Given the description of an element on the screen output the (x, y) to click on. 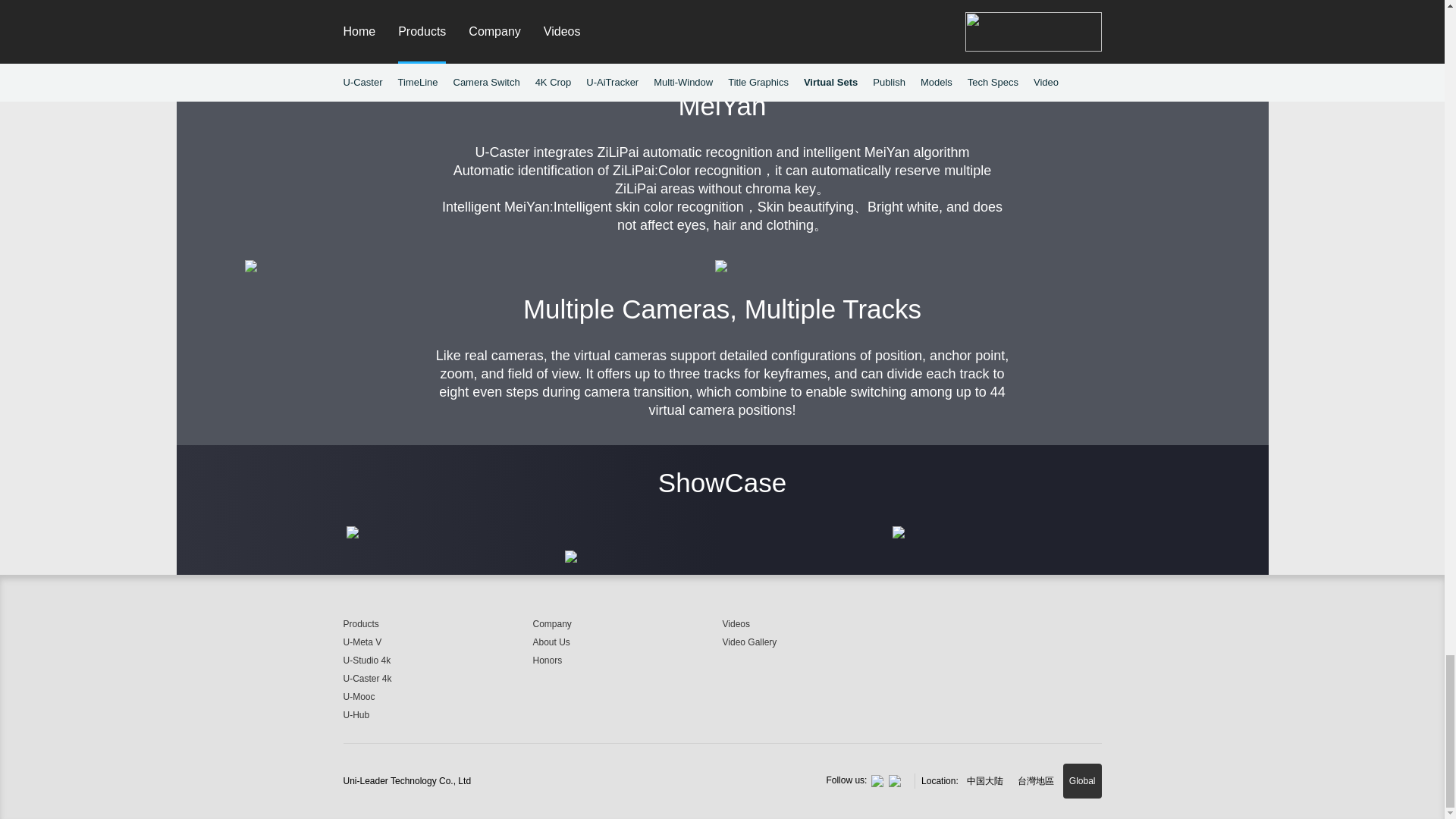
About Us (627, 642)
Honors (627, 660)
U-Meta V (437, 642)
U-Caster 4k (437, 678)
Video Gallery (816, 642)
Global (1082, 780)
U-Mooc (437, 696)
U-Hub (437, 714)
U-Studio 4k (437, 660)
